Given the description of an element on the screen output the (x, y) to click on. 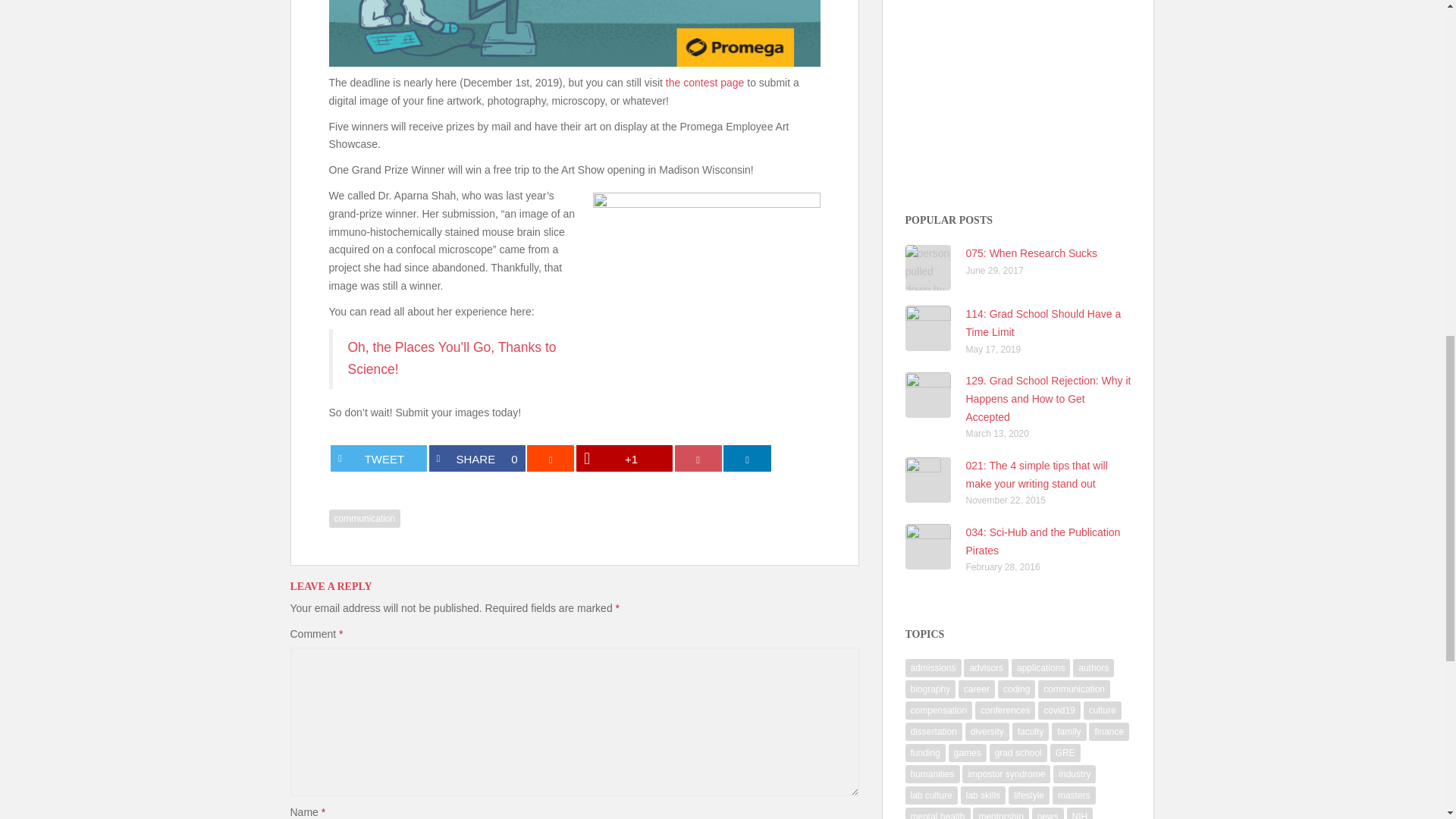
Tweet on Twitter (378, 458)
Share on Linkedin (746, 458)
communication (365, 518)
Share on Facebook (477, 458)
Submit to Reddit (477, 458)
Save to read later on Pocket (550, 458)
the contest page (698, 458)
TWEET (704, 82)
